Given the description of an element on the screen output the (x, y) to click on. 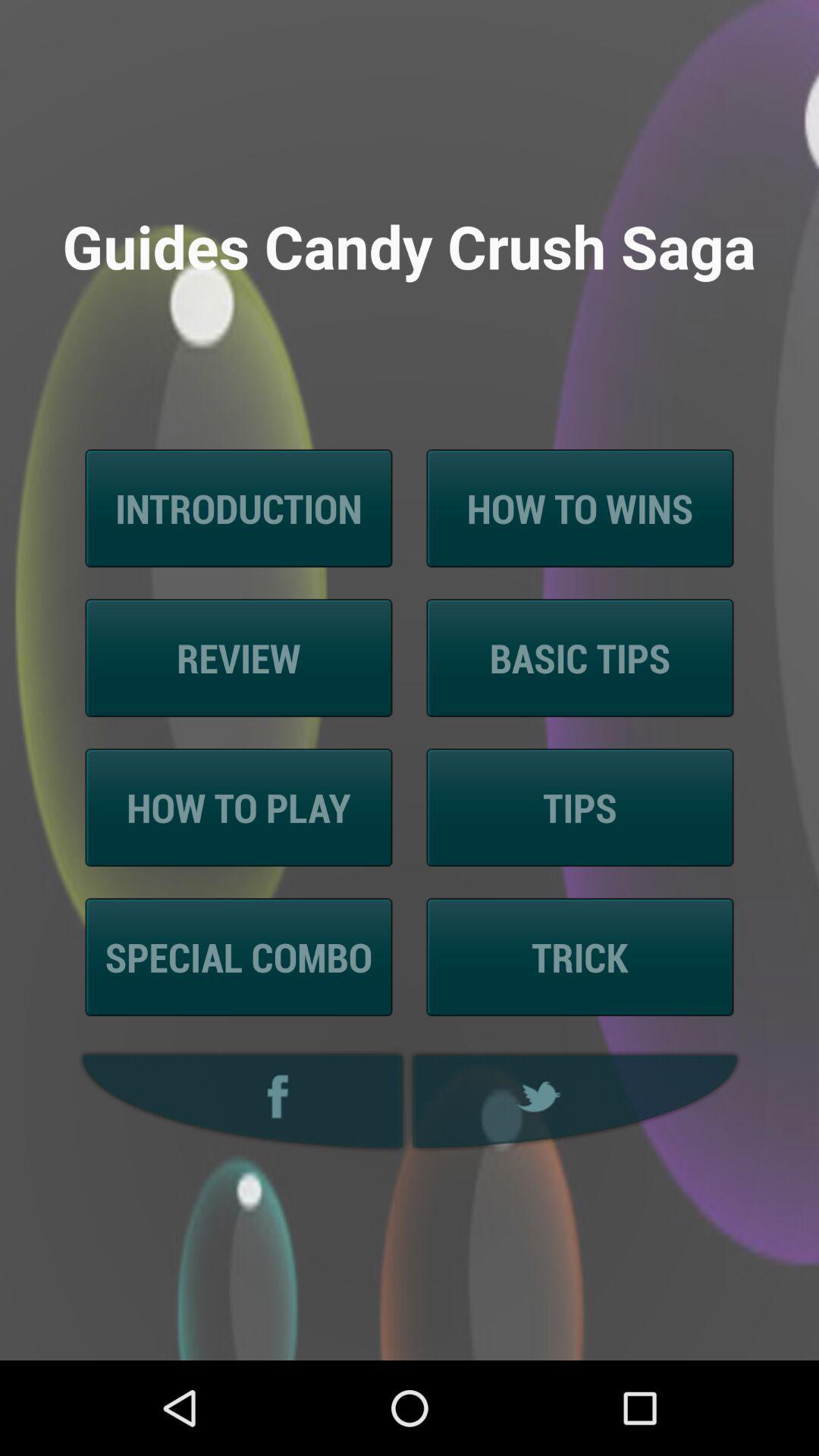
tap item to the left of the trick icon (238, 957)
